Given the description of an element on the screen output the (x, y) to click on. 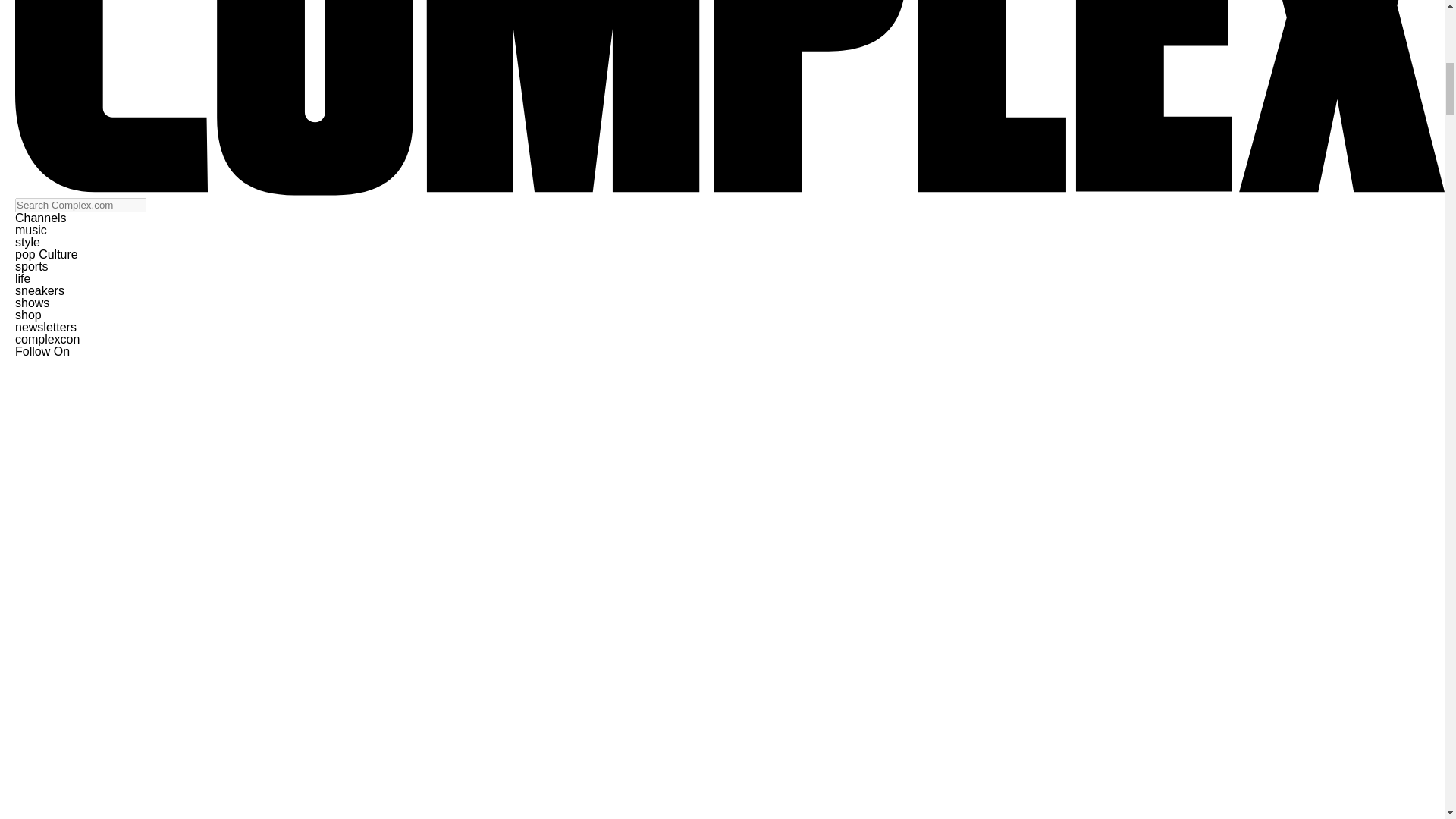
music (30, 229)
life (22, 278)
style (27, 241)
sneakers (39, 290)
sports (31, 266)
newsletters (45, 327)
pop Culture (46, 254)
complexcon (47, 338)
shop (28, 314)
shows (31, 302)
